Given the description of an element on the screen output the (x, y) to click on. 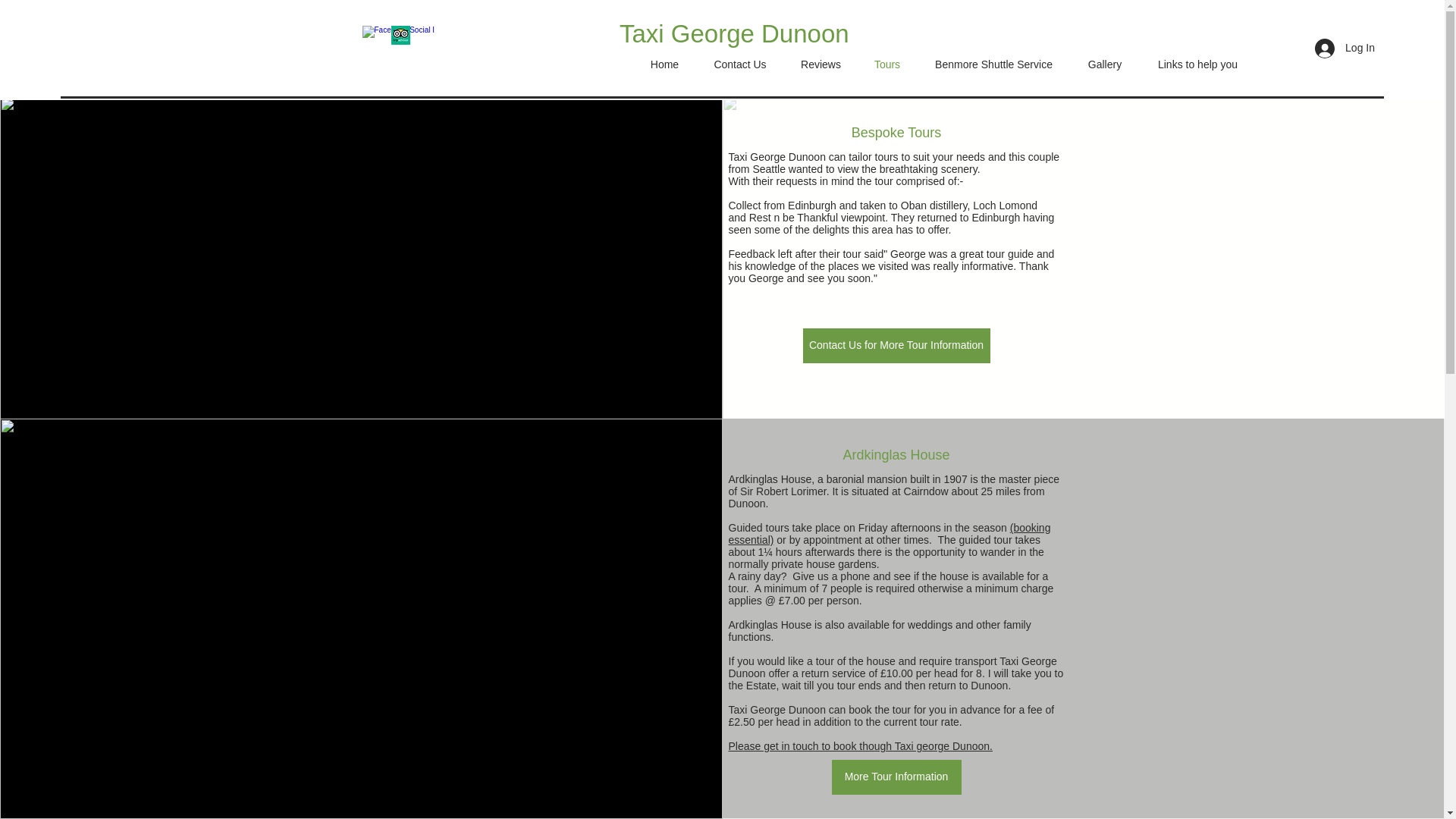
Benmore Shuttle Service (993, 64)
Log In (1345, 48)
Home (664, 64)
Taxi George Dunoon (734, 33)
Contact Us (739, 64)
Contact Us for More Tour Information (896, 345)
More Tour Information (895, 777)
Gallery (1104, 64)
Reviews (820, 64)
Links to help you (1197, 64)
Please get in touch to book though Taxi george Dunoon. (859, 746)
Tours (887, 64)
